Given the description of an element on the screen output the (x, y) to click on. 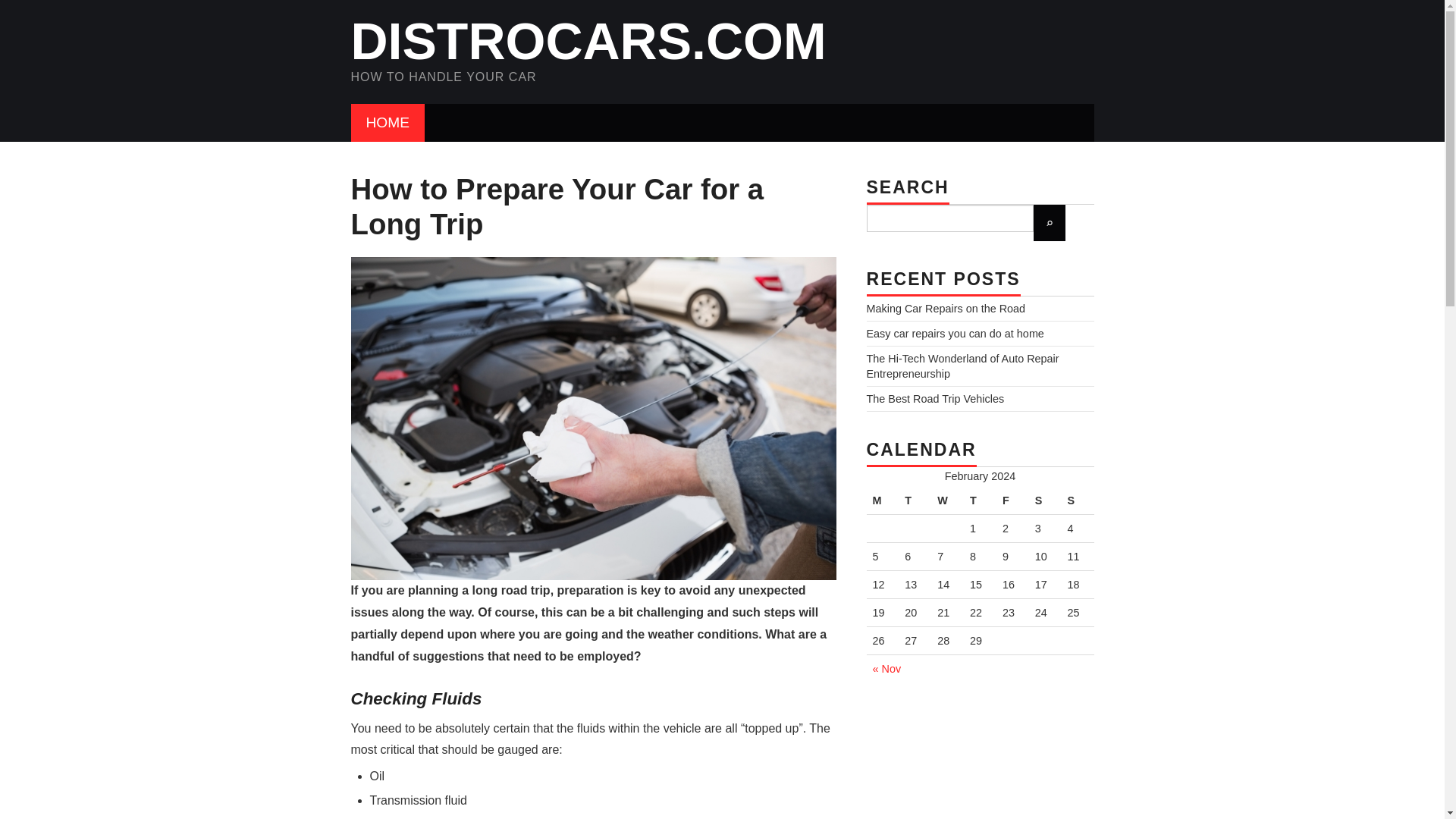
The Best Road Trip Vehicles (935, 398)
HOME (387, 122)
Wednesday (947, 500)
distrocars.com (587, 40)
Sunday (1077, 500)
How to Prepare Your Car for a Long Trip (387, 122)
The Hi-Tech Wonderland of Auto Repair Entrepreneurship (962, 366)
Saturday (1045, 500)
Making Car Repairs on the Road (945, 308)
Monday (882, 500)
